Given the description of an element on the screen output the (x, y) to click on. 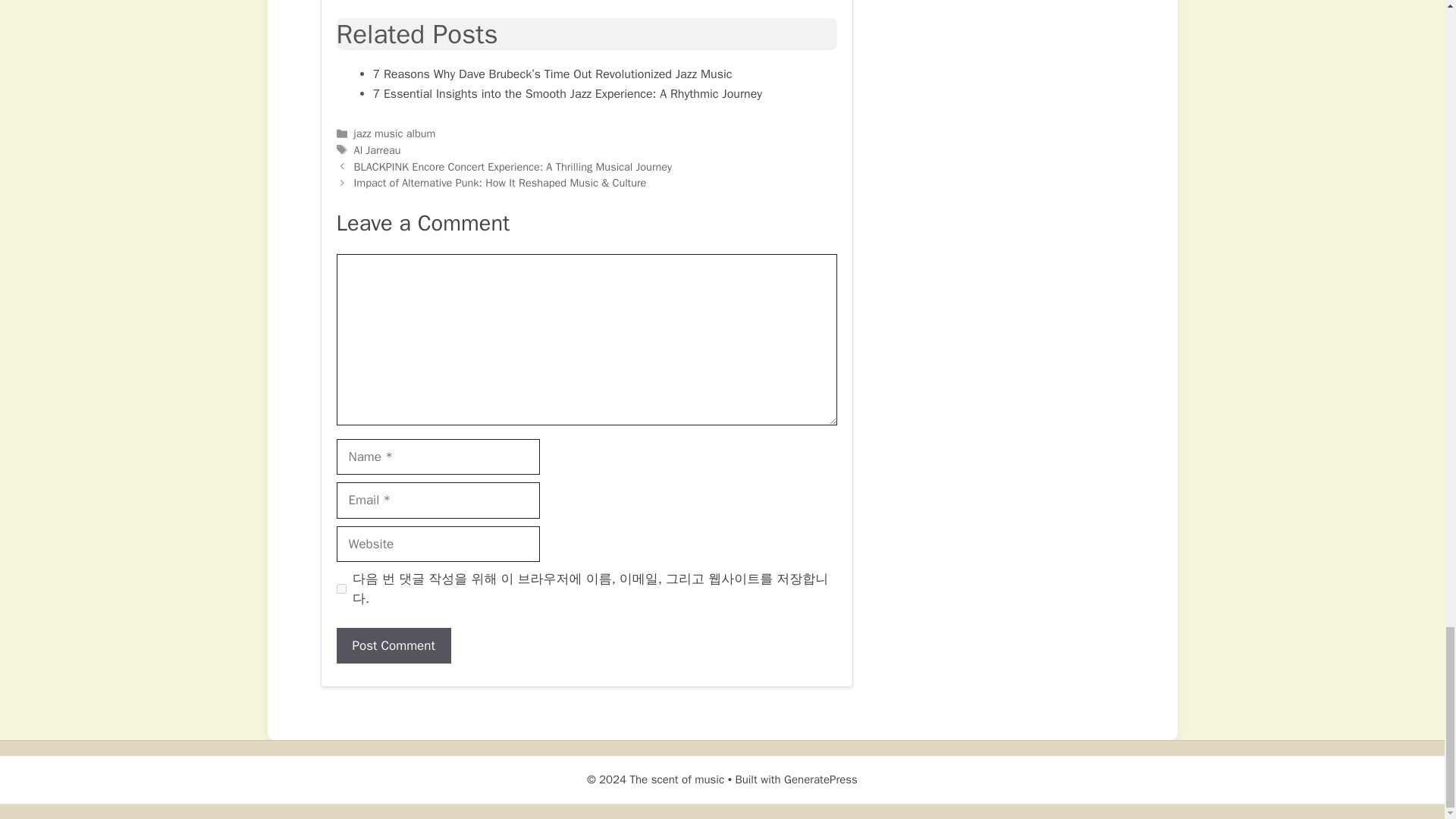
Post Comment (393, 646)
jazz music album (394, 133)
yes (341, 588)
Al Jarreau (377, 150)
Post Comment (393, 646)
